Given the description of an element on the screen output the (x, y) to click on. 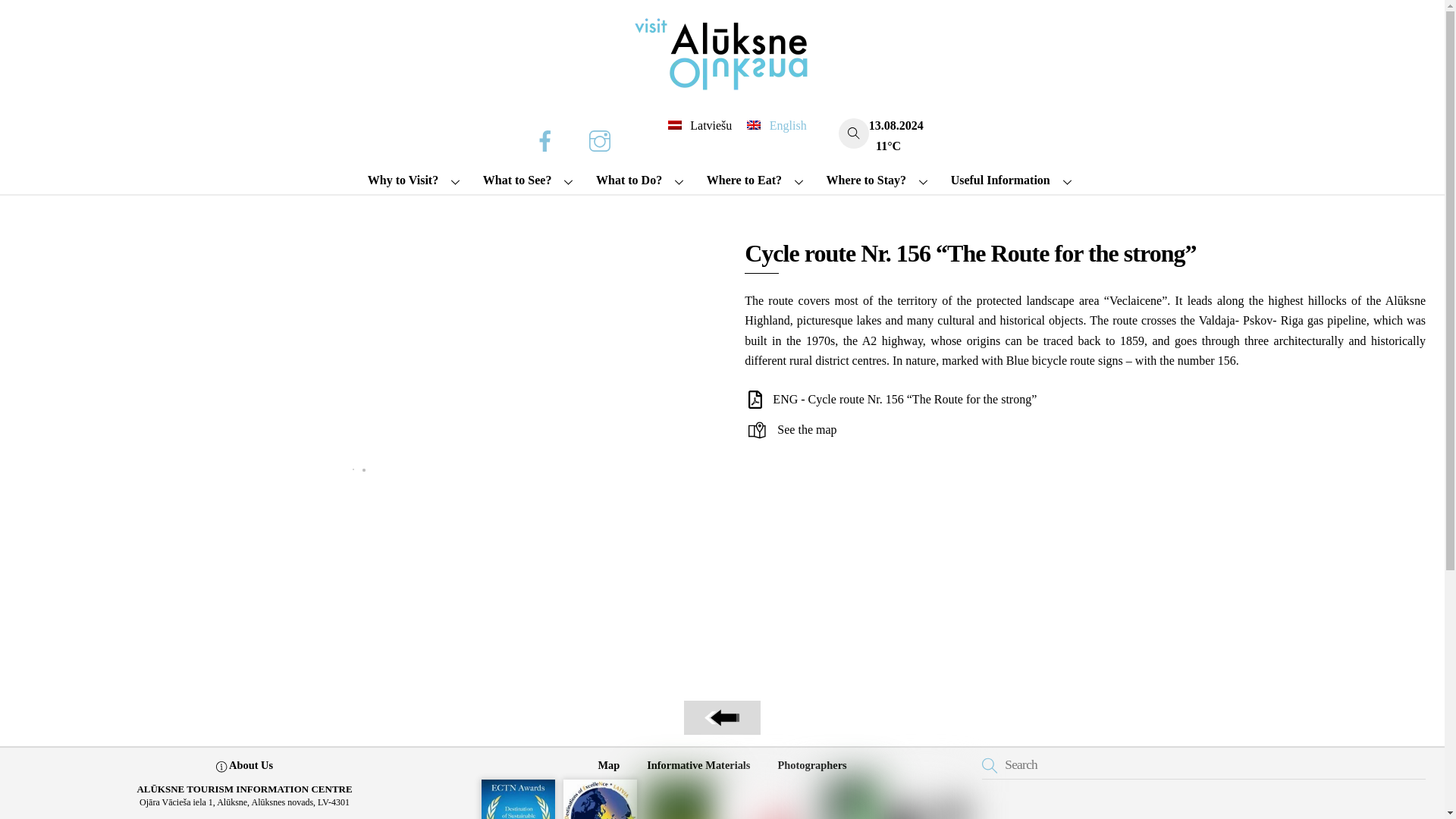
ECTN Awards 2020 (517, 799)
Hiker Friendly Logo (681, 799)
About Us (244, 765)
Latvia travel (925, 799)
Map Informative Materials Photographers (721, 765)
Visit Vidzeme (762, 799)
English (776, 125)
EDEN LATVIA (600, 799)
VECLAICENE (844, 799)
Search (1203, 764)
